Given the description of an element on the screen output the (x, y) to click on. 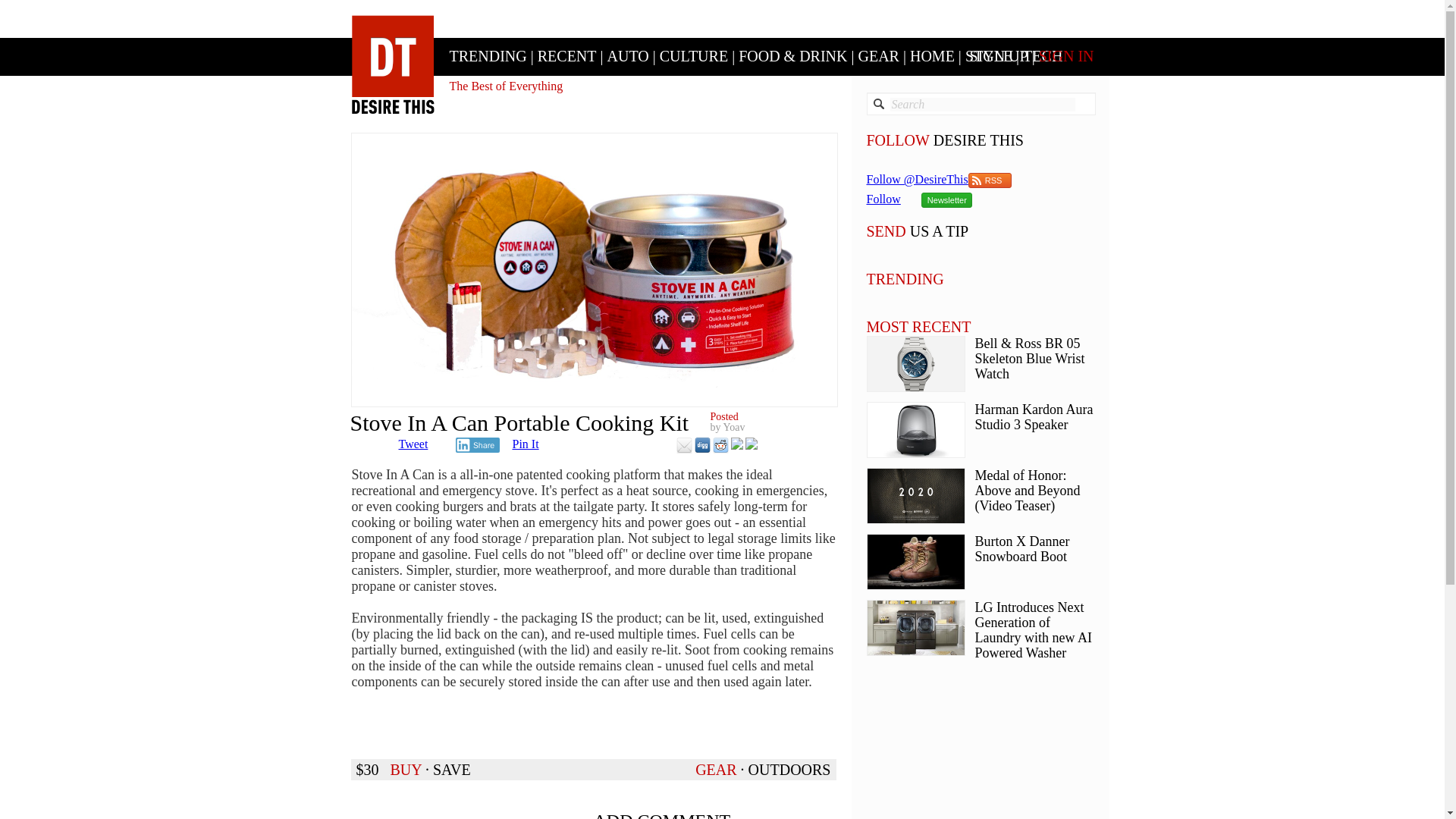
Newsletter (946, 200)
HOME (932, 55)
Tweet (413, 443)
RECENT (566, 55)
Share (476, 444)
GEAR (879, 55)
Stove In A Can Portable Cooking Kit (593, 269)
SIGN UP (998, 55)
Sign In to Desire This (1066, 55)
TECH (1042, 55)
Save (451, 769)
Recent (566, 55)
STYLE (988, 55)
RSS (989, 180)
MOST RECENT (918, 326)
